Given the description of an element on the screen output the (x, y) to click on. 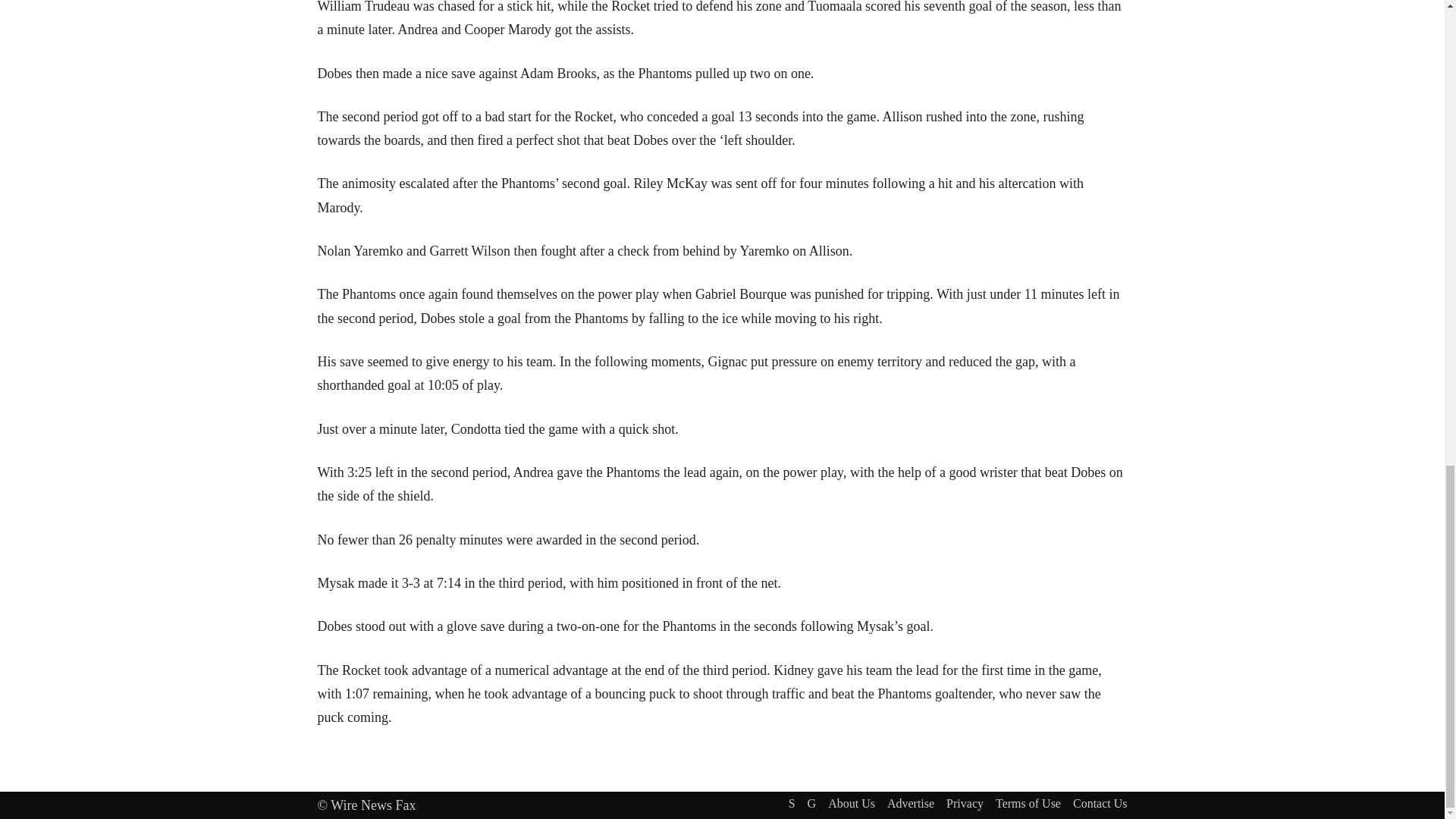
Terms of Use (1028, 803)
About Us (851, 803)
Contact Us (1099, 803)
Privacy (965, 803)
Advertise (910, 803)
